Given the description of an element on the screen output the (x, y) to click on. 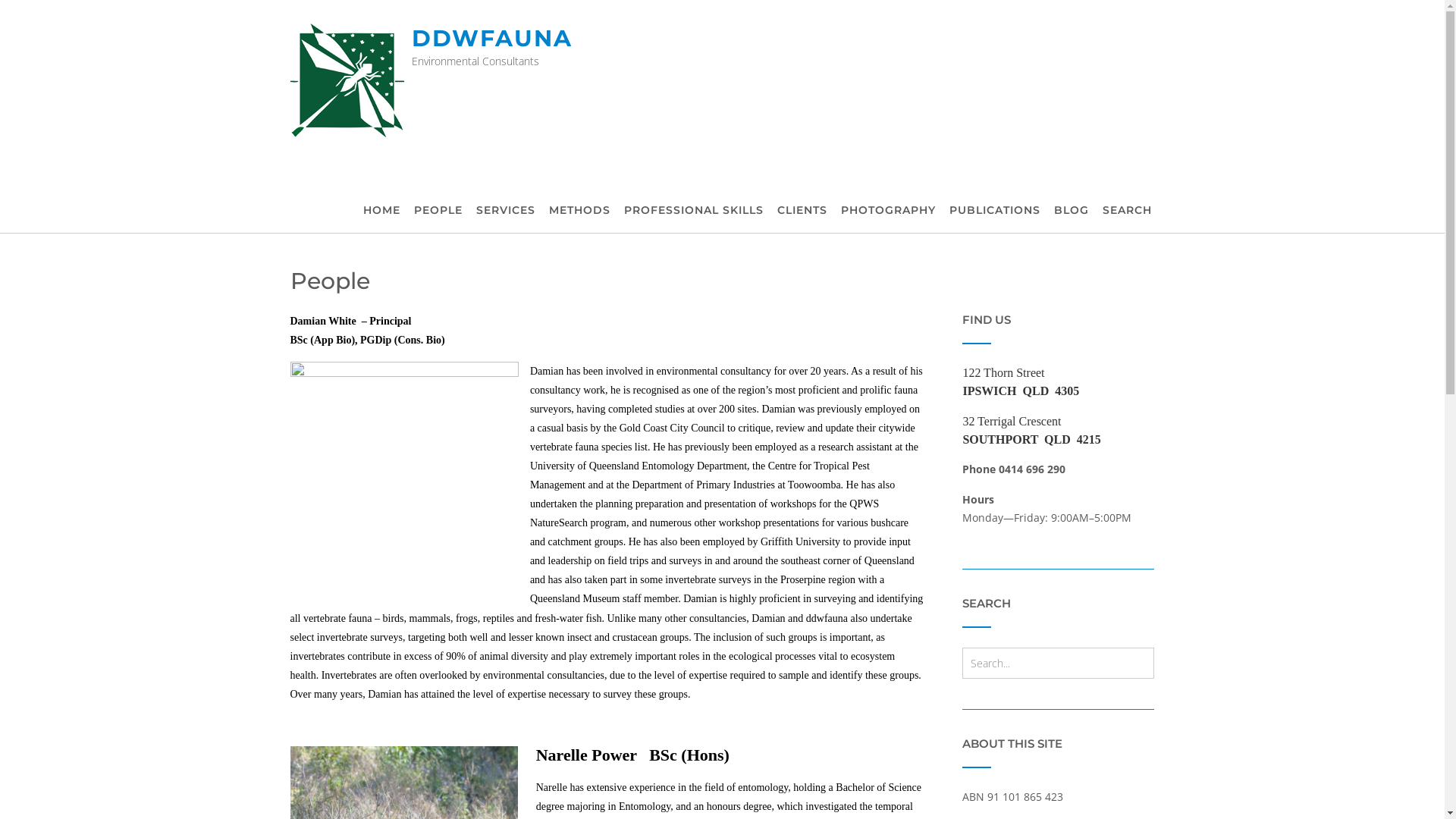
PHOTOGRAPHY Element type: text (887, 210)
SERVICES Element type: text (505, 210)
HOME Element type: text (380, 210)
PEOPLE Element type: text (438, 210)
PROFESSIONAL SKILLS Element type: text (692, 210)
CLIENTS Element type: text (801, 210)
DDWFAUNA Element type: text (491, 38)
PUBLICATIONS Element type: text (994, 210)
ddwfauna Element type: hover (350, 80)
Search for: Element type: hover (1045, 662)
SEARCH Element type: text (1128, 210)
BLOG Element type: text (1071, 210)
METHODS Element type: text (579, 210)
